Given the description of an element on the screen output the (x, y) to click on. 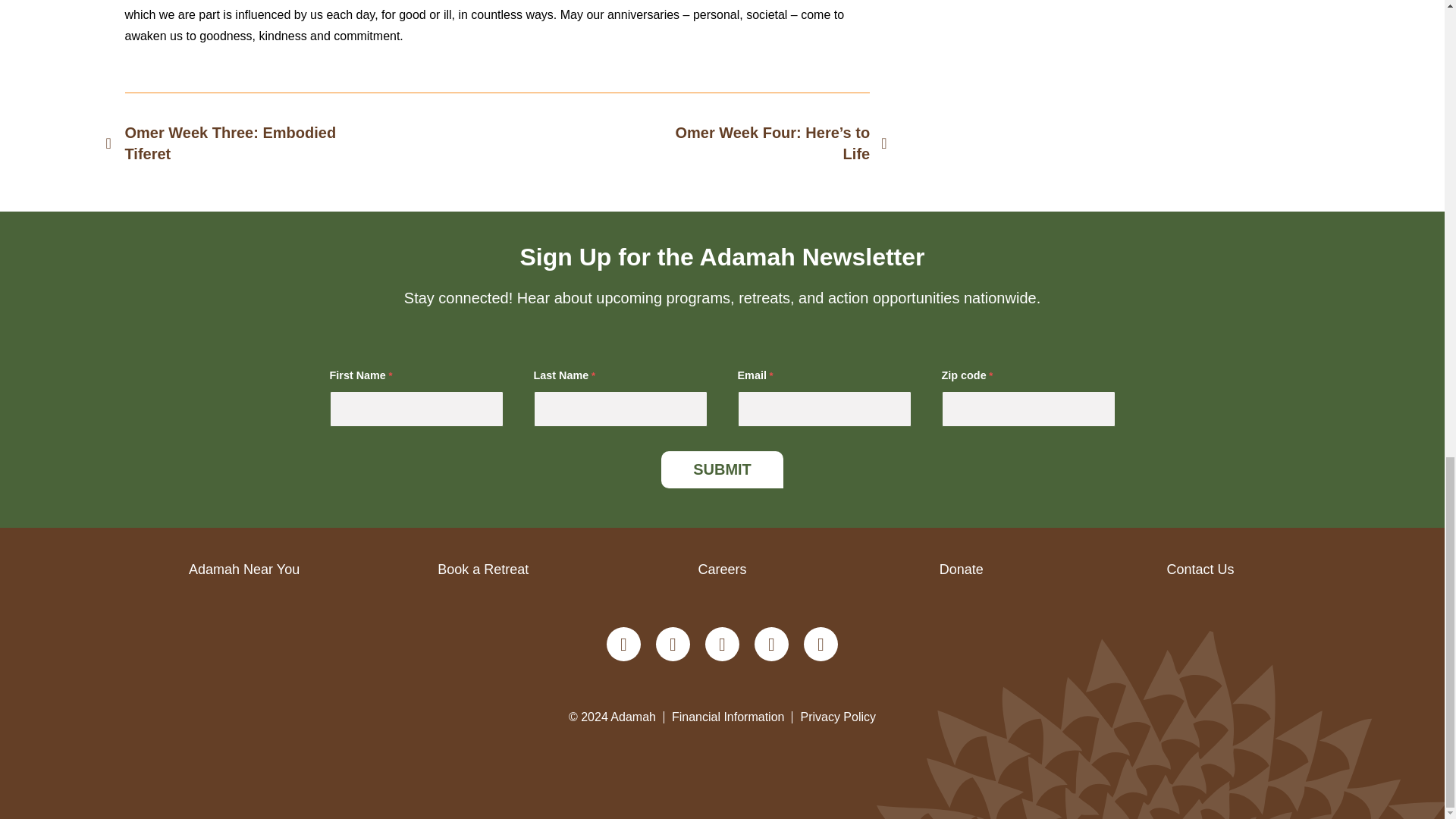
Submit (722, 469)
